Given the description of an element on the screen output the (x, y) to click on. 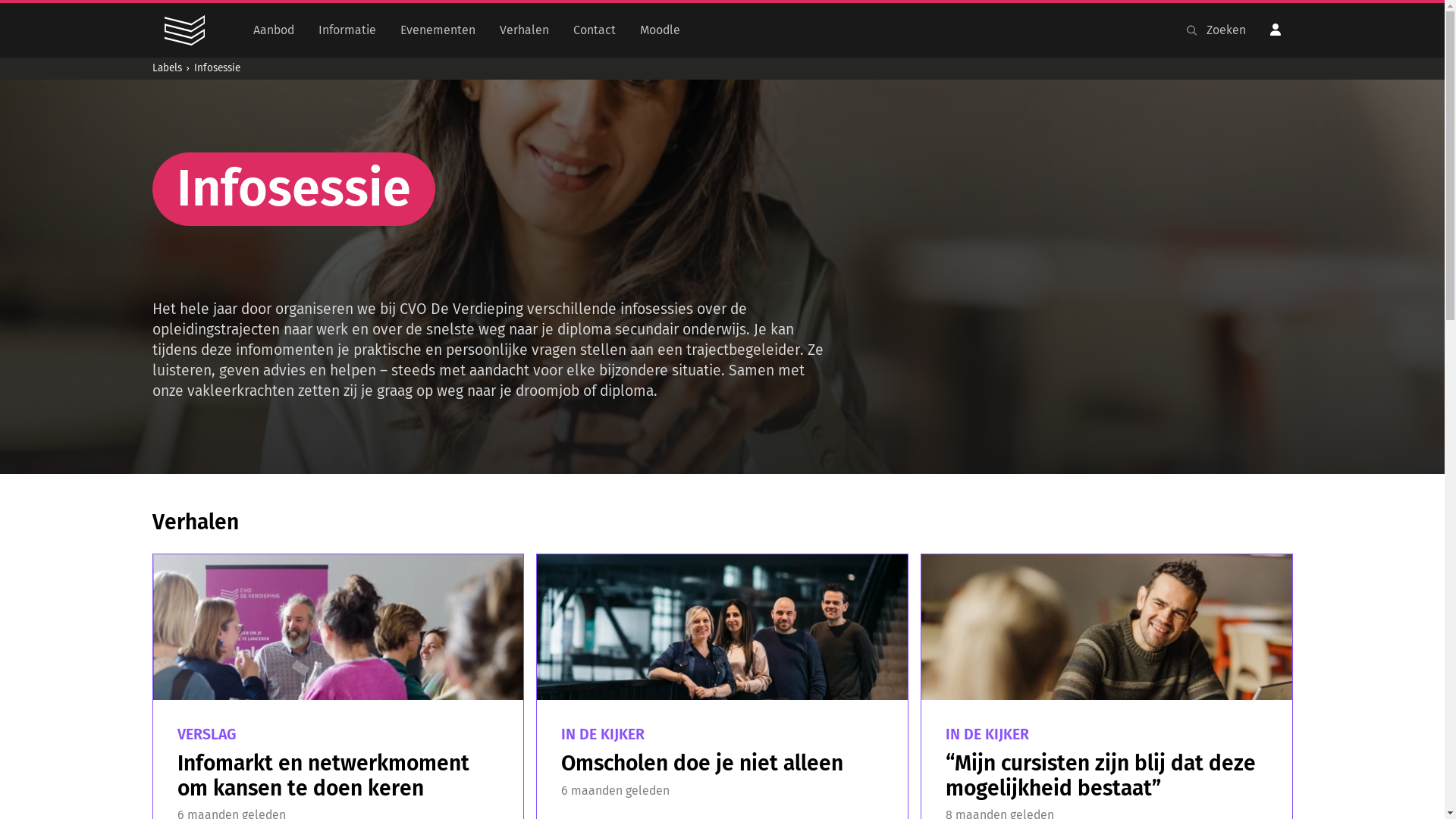
VERSLAG Element type: text (206, 734)
IN DE KIJKER Element type: text (987, 734)
IN DE KIJKER Element type: text (602, 734)
Omscholen doe je niet alleen Element type: text (702, 762)
Contact Element type: text (594, 29)
Moodle Element type: text (660, 29)
Infomarkt en netwerkmoment om kansen te doen keren Element type: text (323, 775)
